Given the description of an element on the screen output the (x, y) to click on. 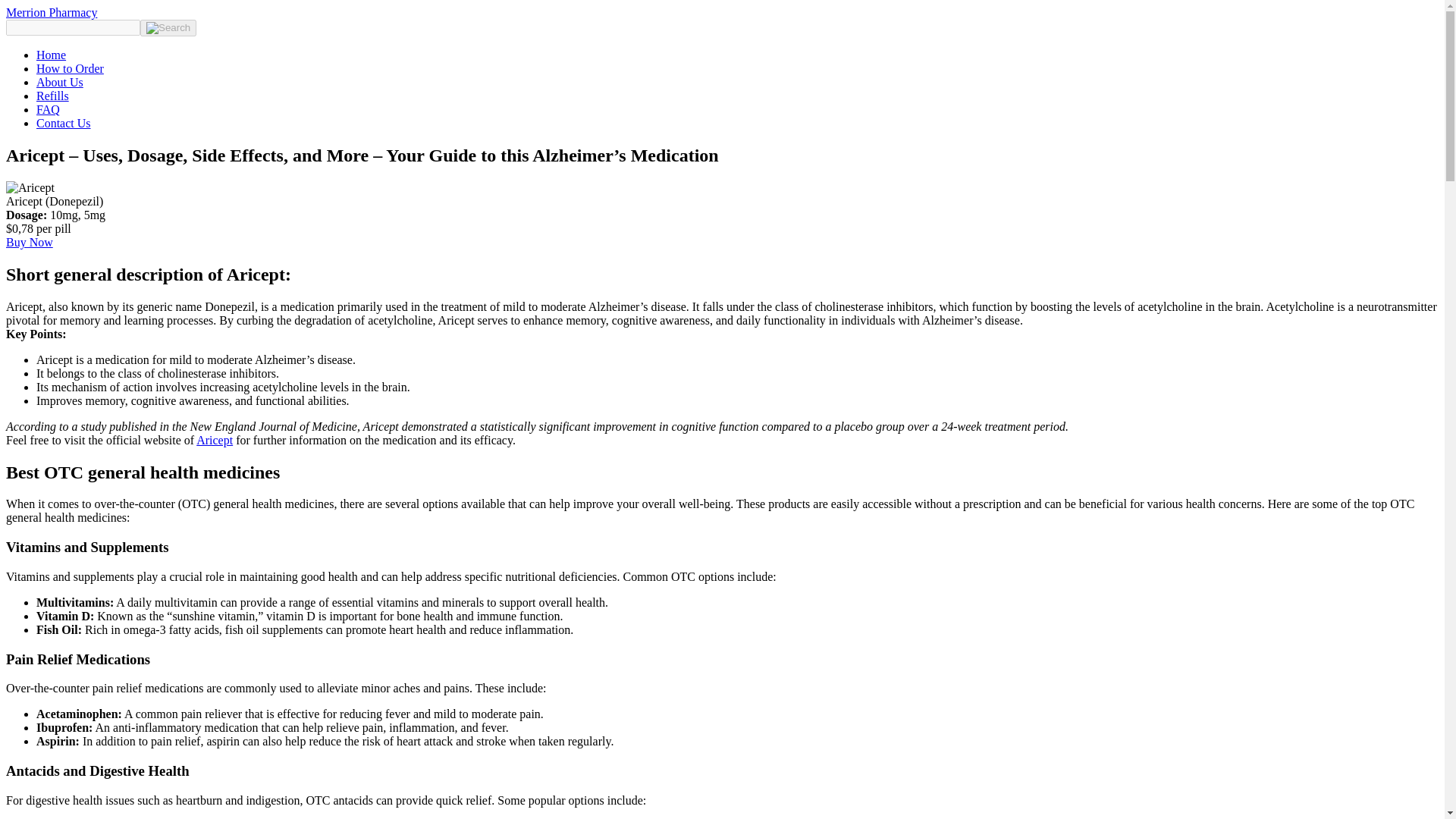
FAQ (47, 109)
How to Order (69, 68)
Merrion Pharma (51, 11)
Contact Us (63, 123)
Refills (52, 95)
About Us (59, 82)
Aricept (214, 440)
Buy Now (28, 241)
Home (50, 54)
Merrion Pharmacy (51, 11)
